Given the description of an element on the screen output the (x, y) to click on. 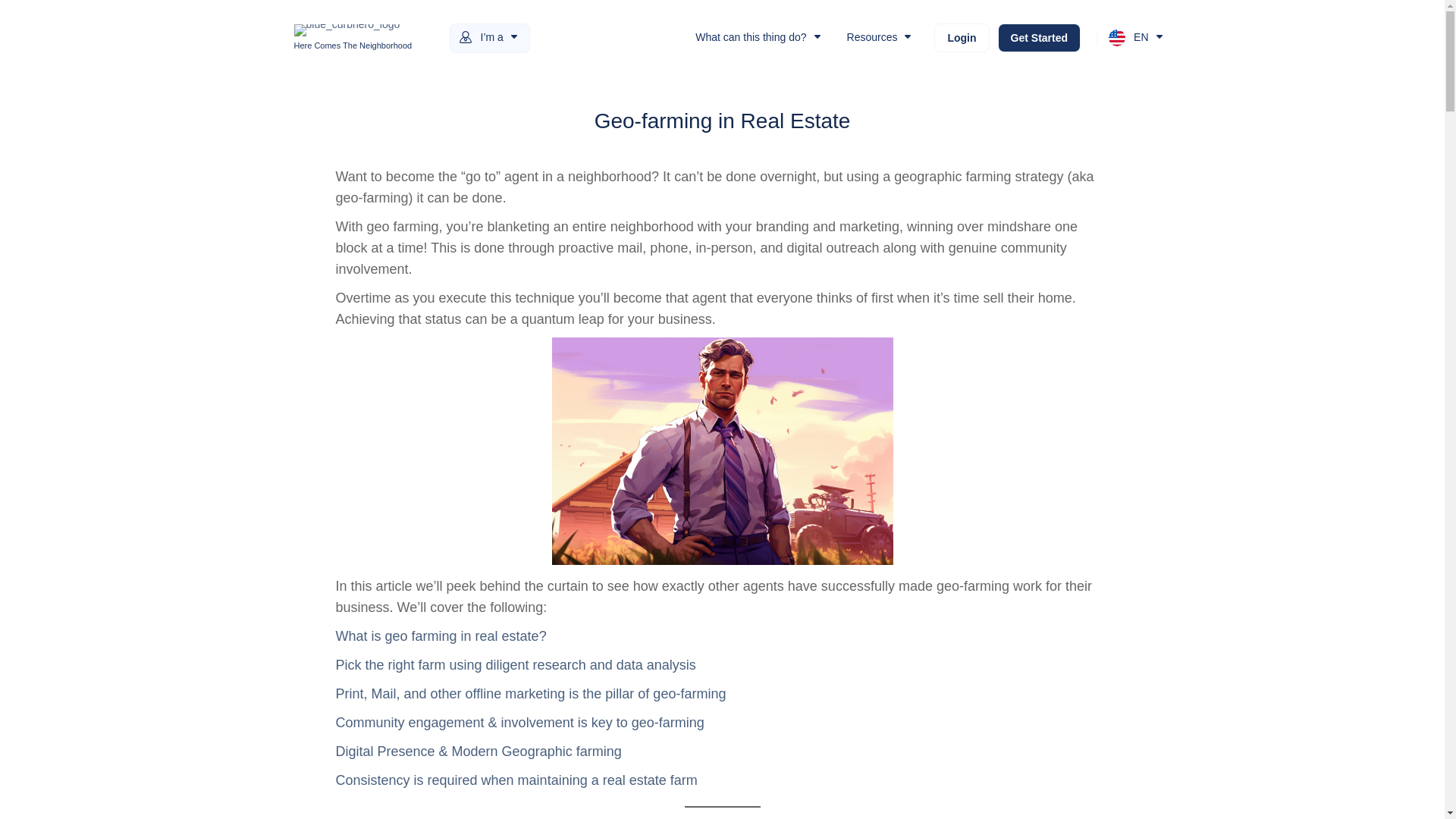
What is geo farming in real estate? (440, 635)
EN (1136, 37)
Login (961, 37)
What can this thing do? (759, 38)
Resources (880, 38)
Consistency is required when maintaining a real estate farm (515, 780)
Get Started (1038, 37)
